Given the description of an element on the screen output the (x, y) to click on. 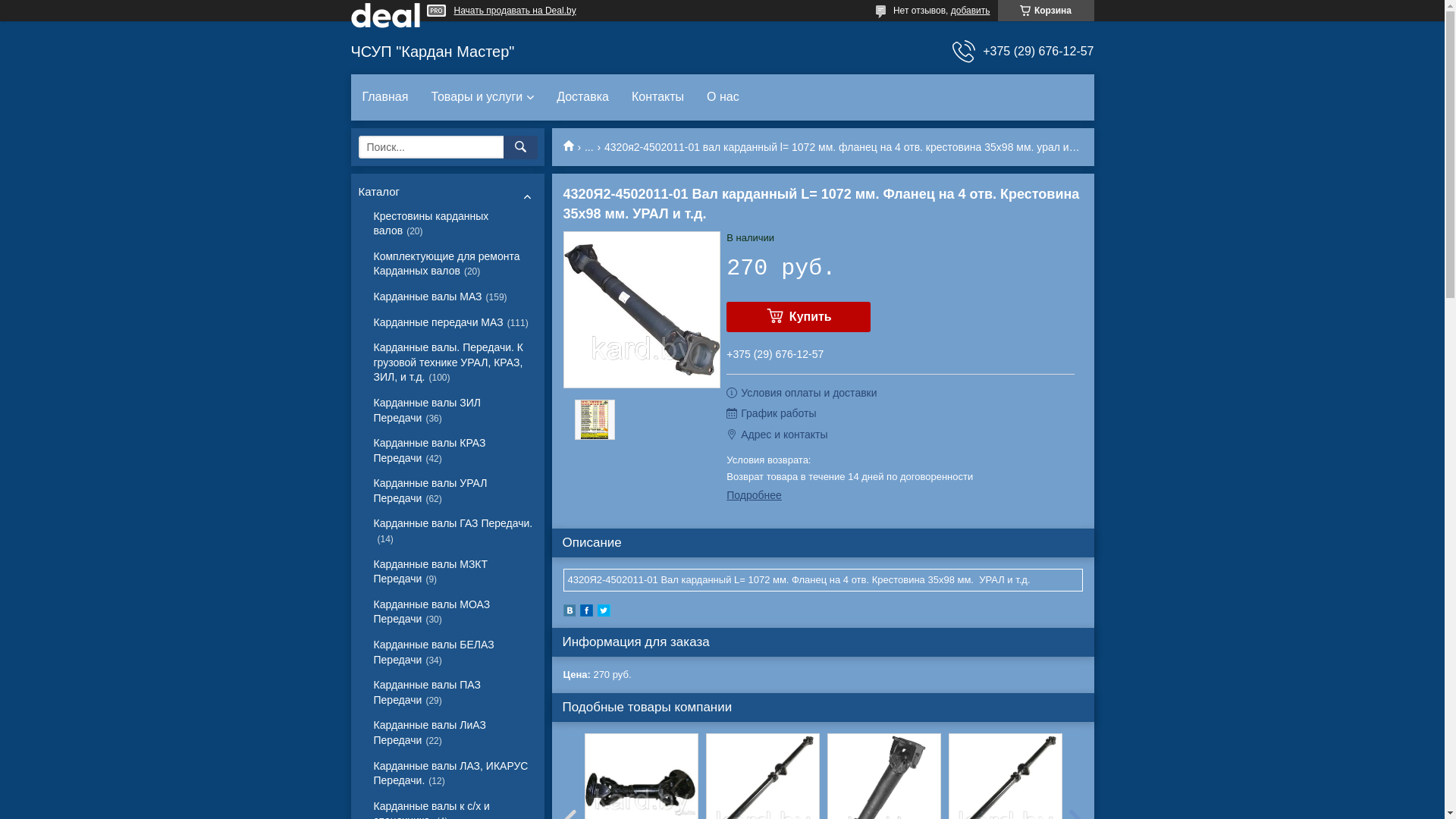
facebook Element type: hover (585, 612)
twitter Element type: hover (603, 612)
